Given the description of an element on the screen output the (x, y) to click on. 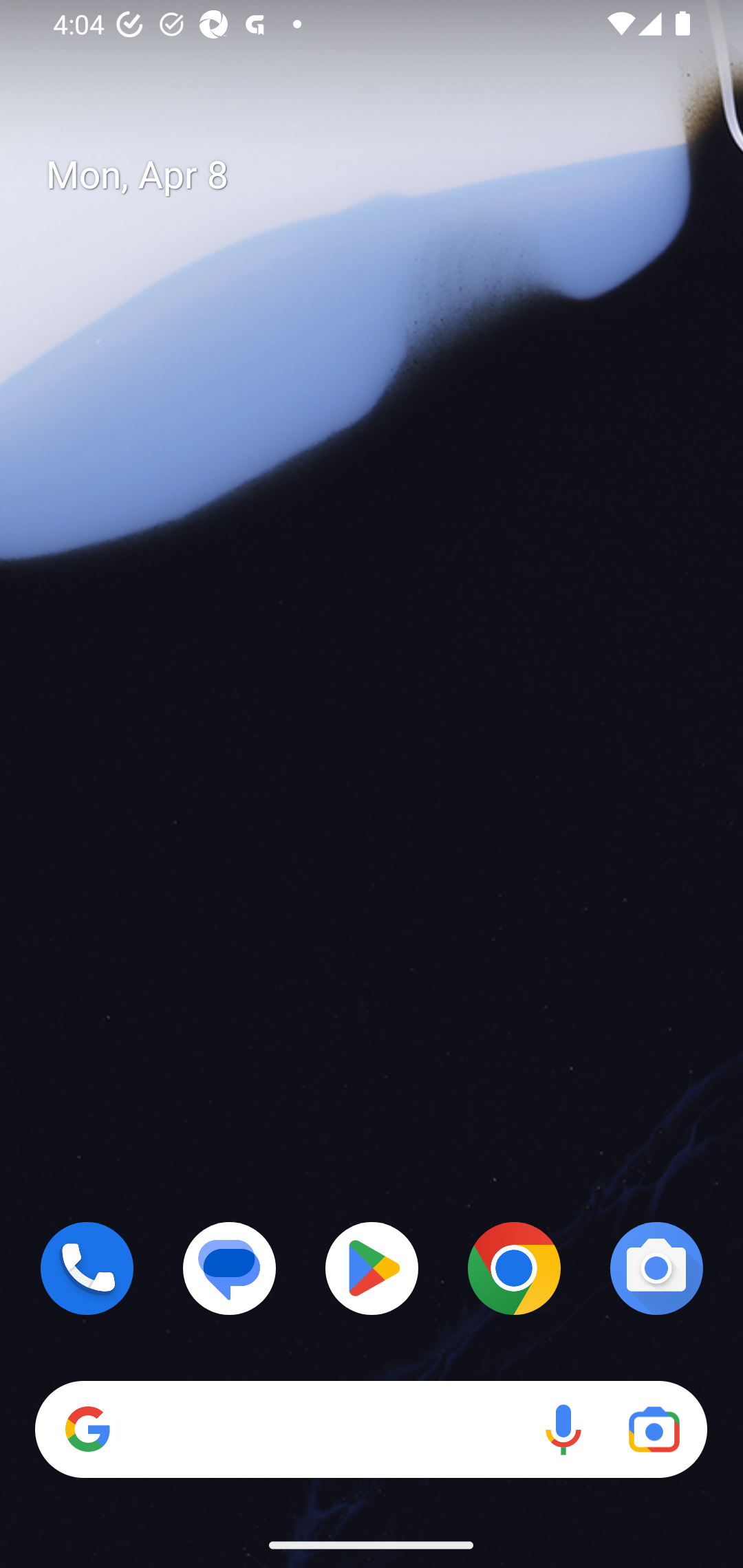
Mon, Apr 8 (386, 175)
Phone (86, 1268)
Messages (229, 1268)
Play Store (371, 1268)
Chrome (513, 1268)
Camera (656, 1268)
Search Voice search Google Lens (370, 1429)
Voice search (562, 1429)
Google Lens (653, 1429)
